Given the description of an element on the screen output the (x, y) to click on. 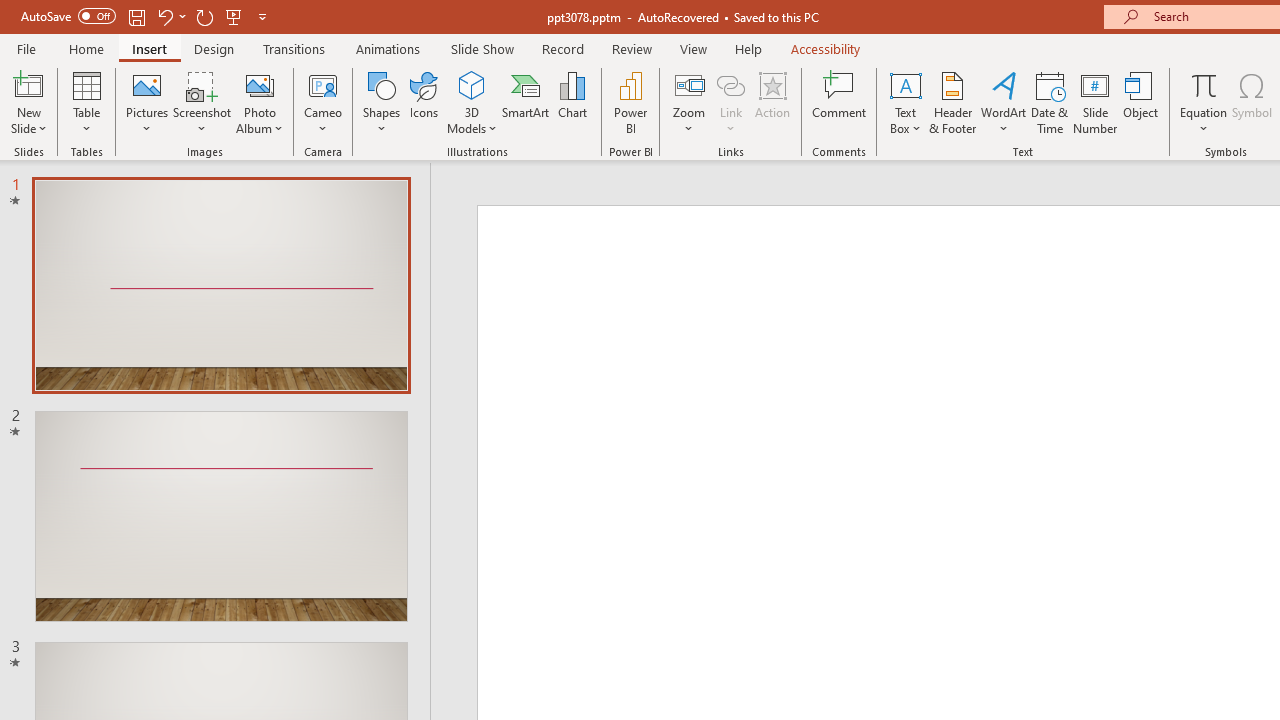
3D Models (472, 84)
Link (731, 102)
Comment (839, 102)
Symbol... (1252, 102)
Date & Time... (1050, 102)
Object... (1141, 102)
Screenshot (202, 102)
